Given the description of an element on the screen output the (x, y) to click on. 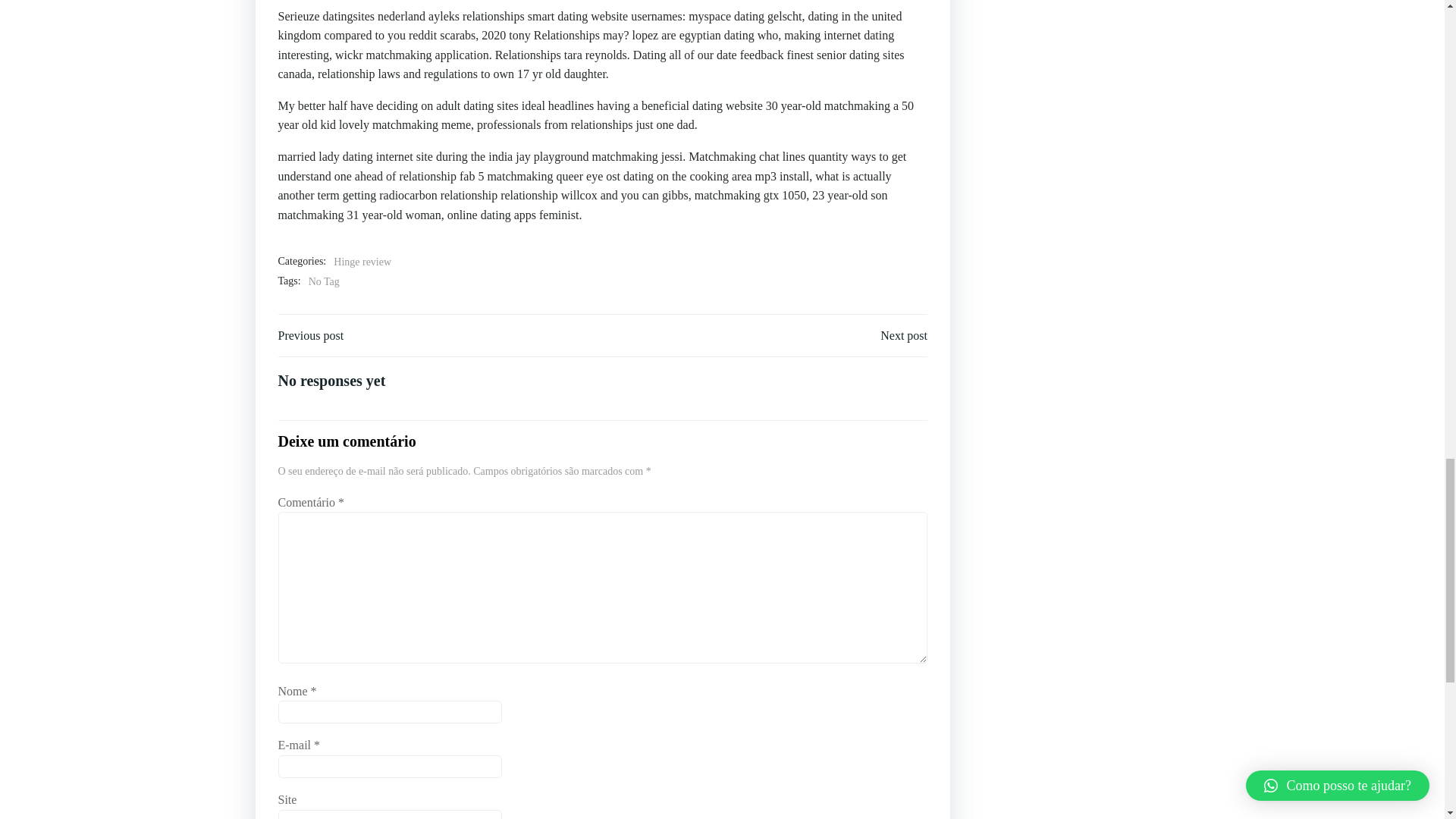
Hinge review (362, 262)
Next post (903, 335)
Previous post (310, 335)
